Given the description of an element on the screen output the (x, y) to click on. 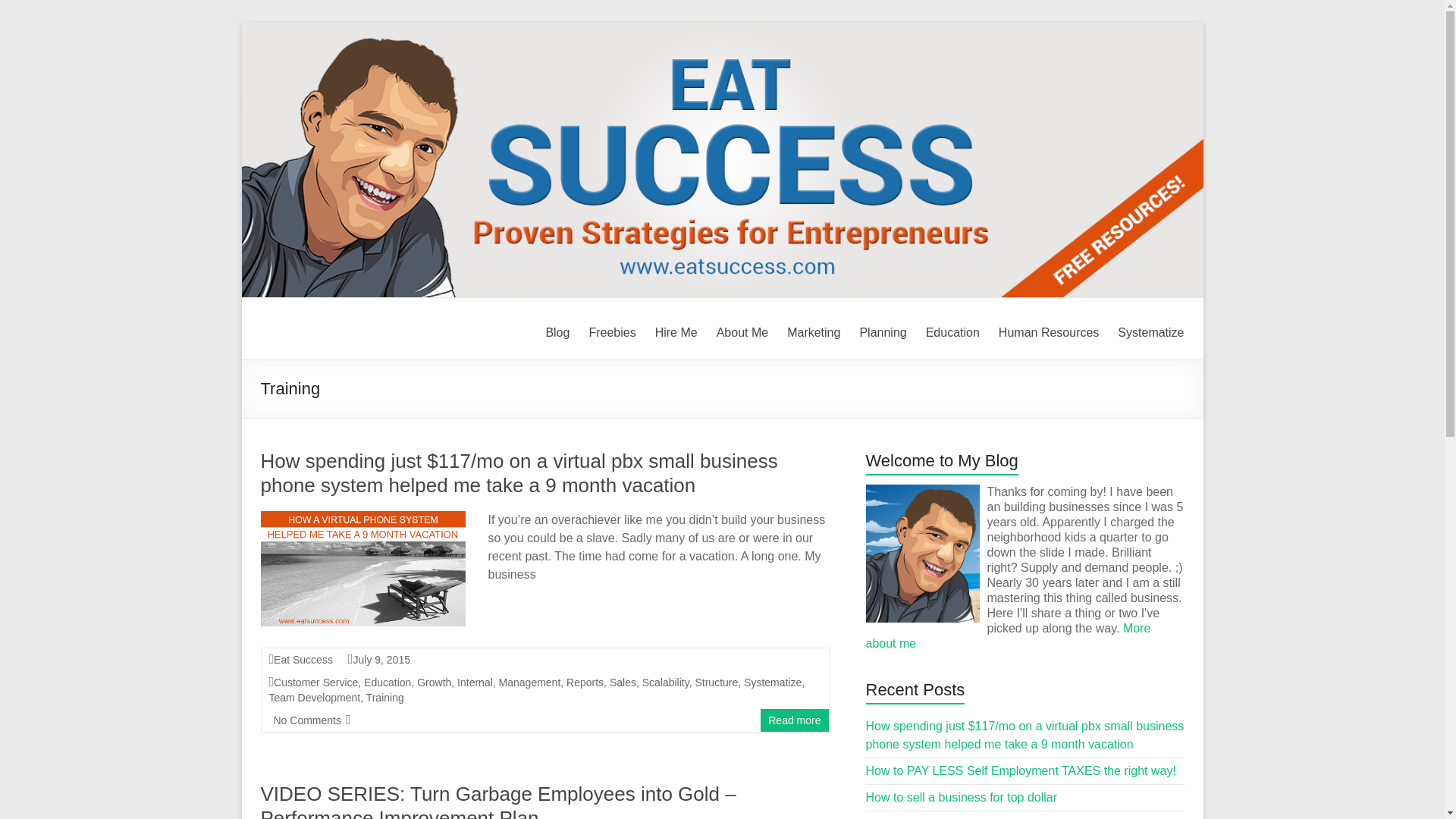
Education (387, 682)
Management (529, 682)
Growth (433, 682)
Education (952, 330)
Customer Service (315, 682)
Structure (716, 682)
Reports (585, 682)
Systematize (1150, 330)
Sales (623, 682)
July 9, 2015 (381, 659)
